Given the description of an element on the screen output the (x, y) to click on. 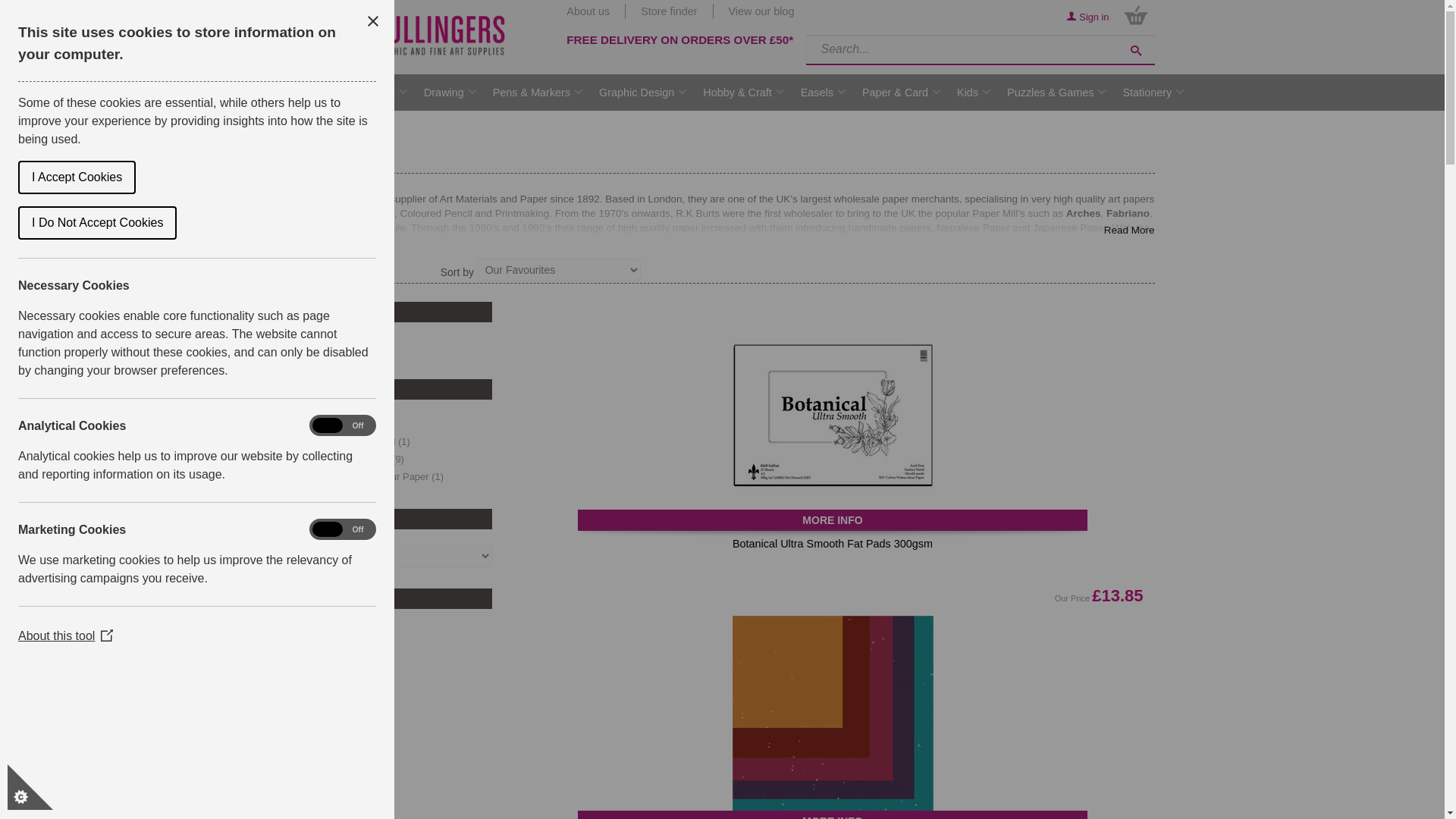
Drawing (443, 92)
Easels (816, 92)
I Do Not Accept Cookies (69, 222)
Art Supplies (365, 92)
48 (294, 345)
I Accept Cookies (42, 177)
click here to submit your search (1135, 49)
Stationery (1147, 92)
ins (294, 646)
Stationery (1147, 92)
Easels (816, 92)
View our blog (753, 11)
2153 (294, 474)
Brands (290, 92)
Brands (290, 92)
